Given the description of an element on the screen output the (x, y) to click on. 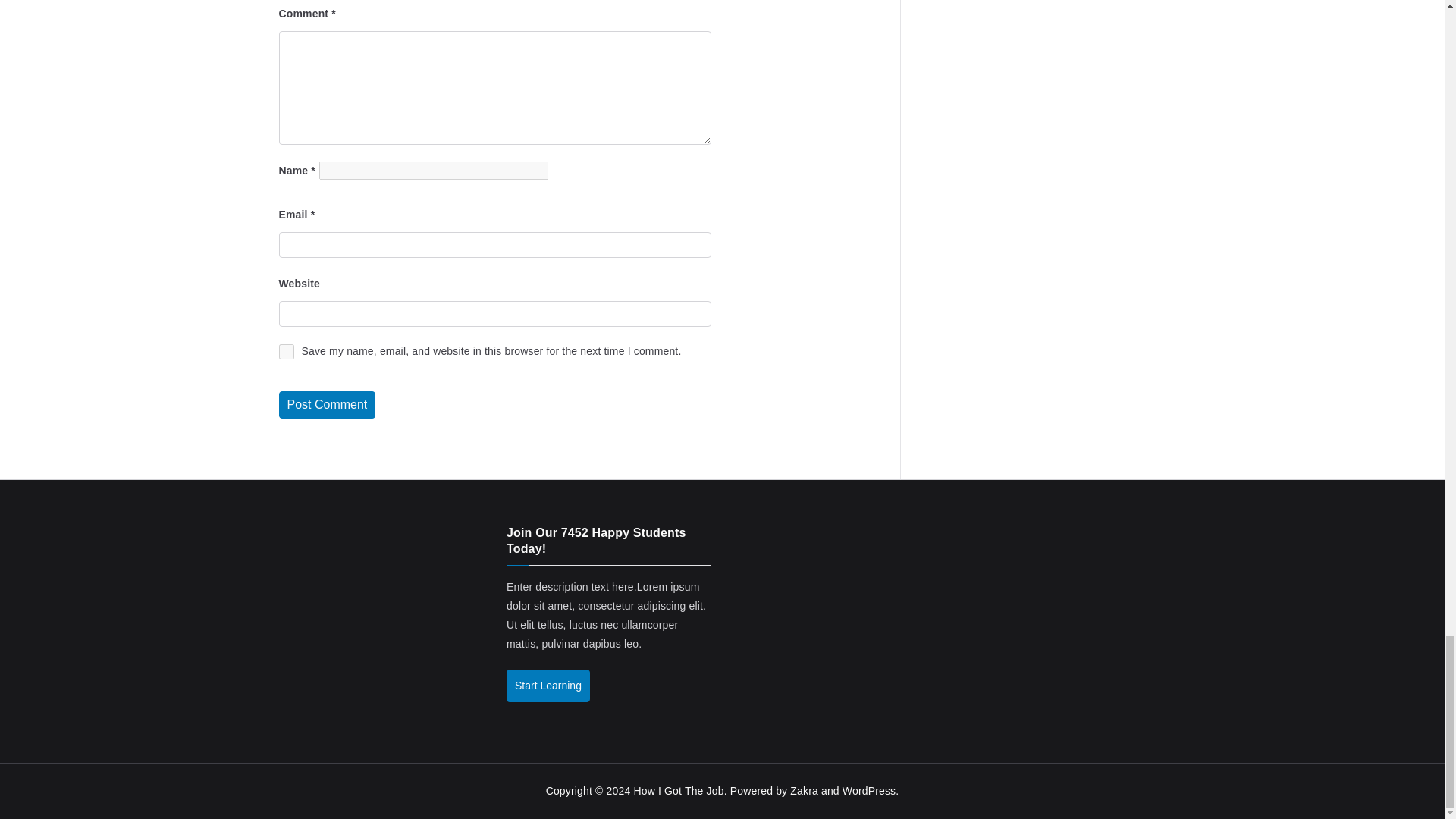
Zakra (804, 790)
Post Comment (327, 404)
Start Learning (547, 685)
WordPress (869, 790)
Start Learning (547, 685)
WordPress (869, 790)
How I Got The Job (678, 790)
yes (286, 351)
Zakra (804, 790)
How I Got The Job (678, 790)
Post Comment (327, 404)
